Given the description of an element on the screen output the (x, y) to click on. 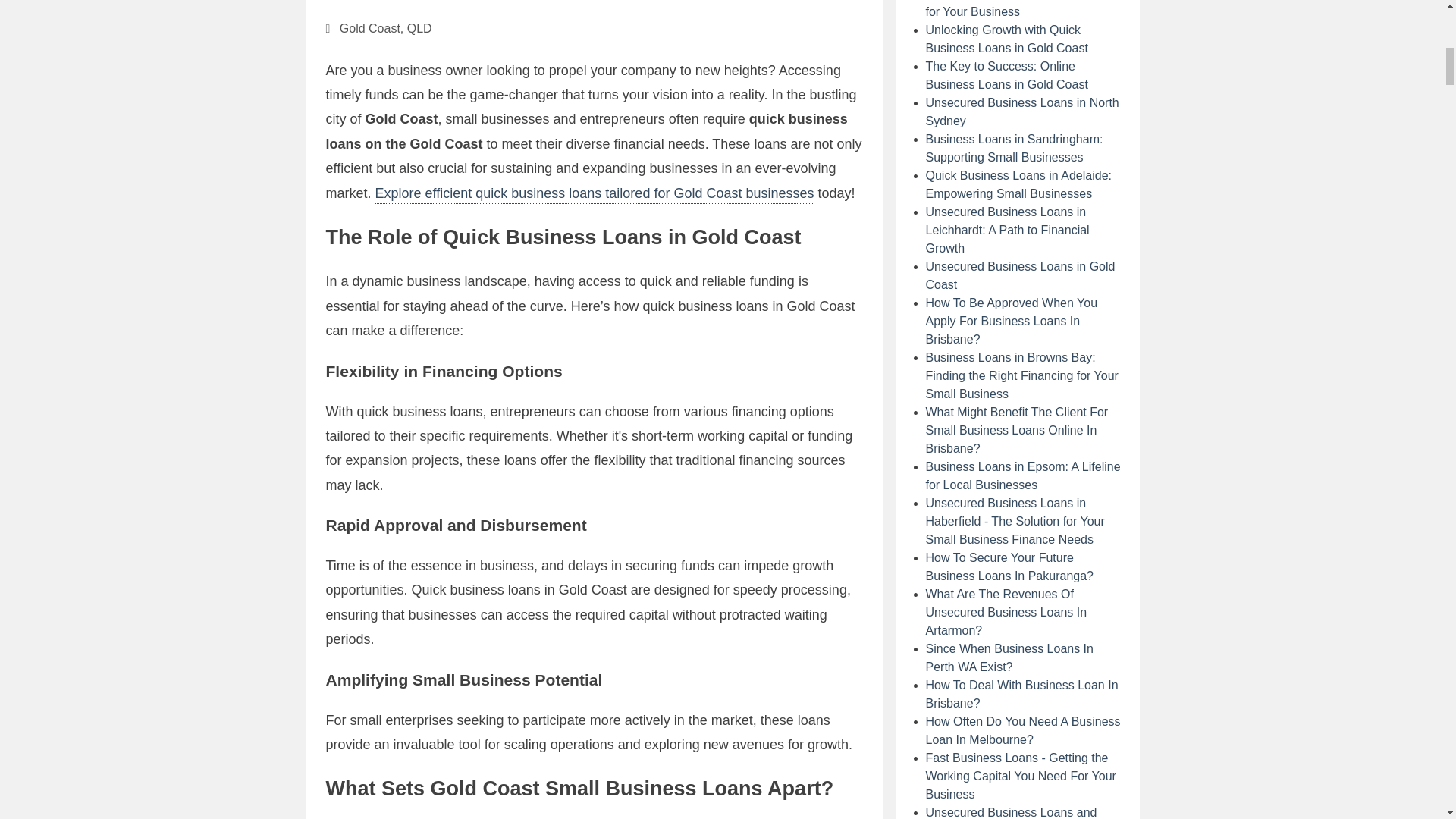
QLD (419, 28)
Gold Coast (369, 28)
